Given the description of an element on the screen output the (x, y) to click on. 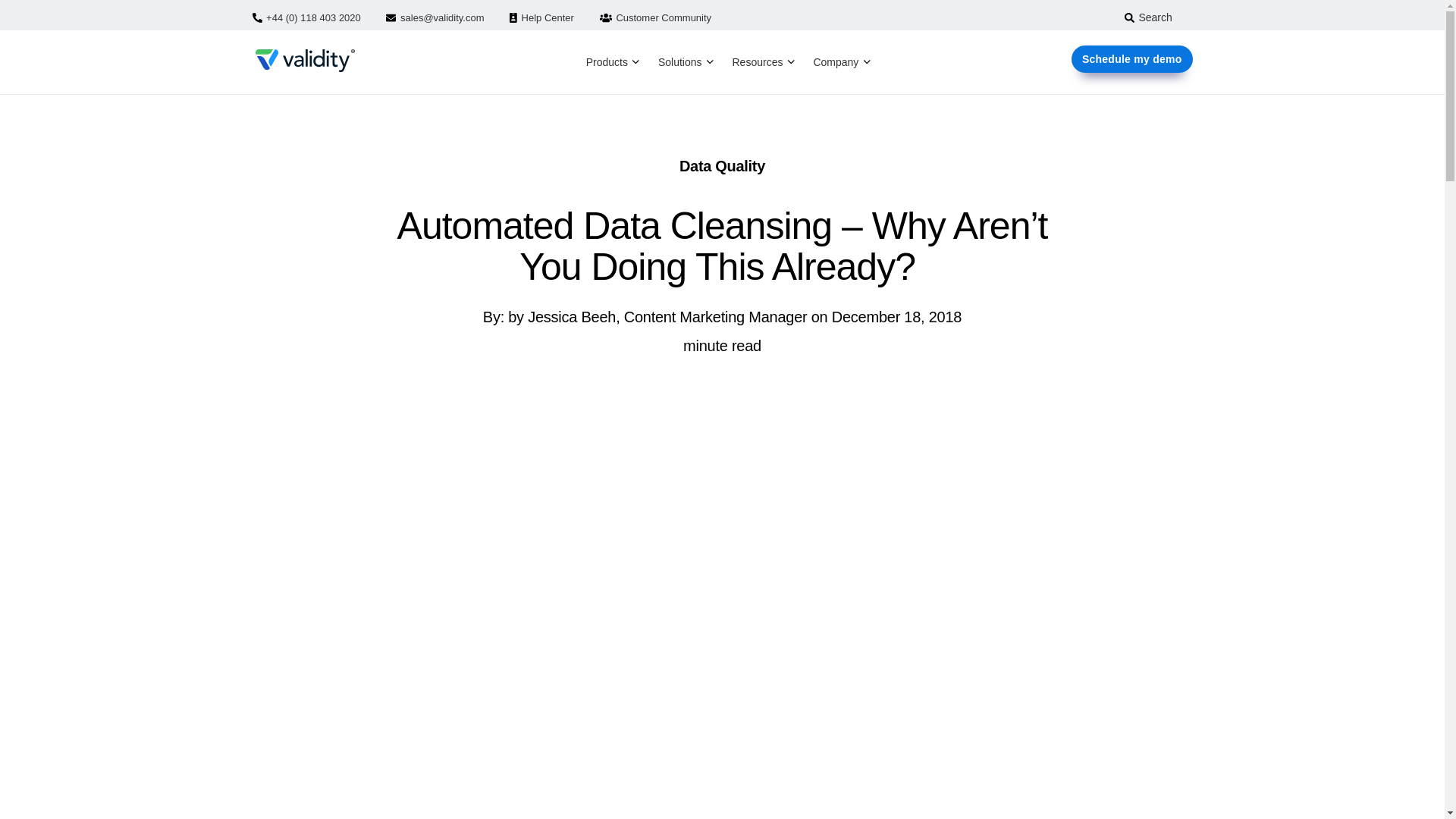
Schedule my demo (1131, 58)
Solutions (680, 62)
Help Center (541, 17)
Customer Community (655, 17)
Products (606, 62)
